Given the description of an element on the screen output the (x, y) to click on. 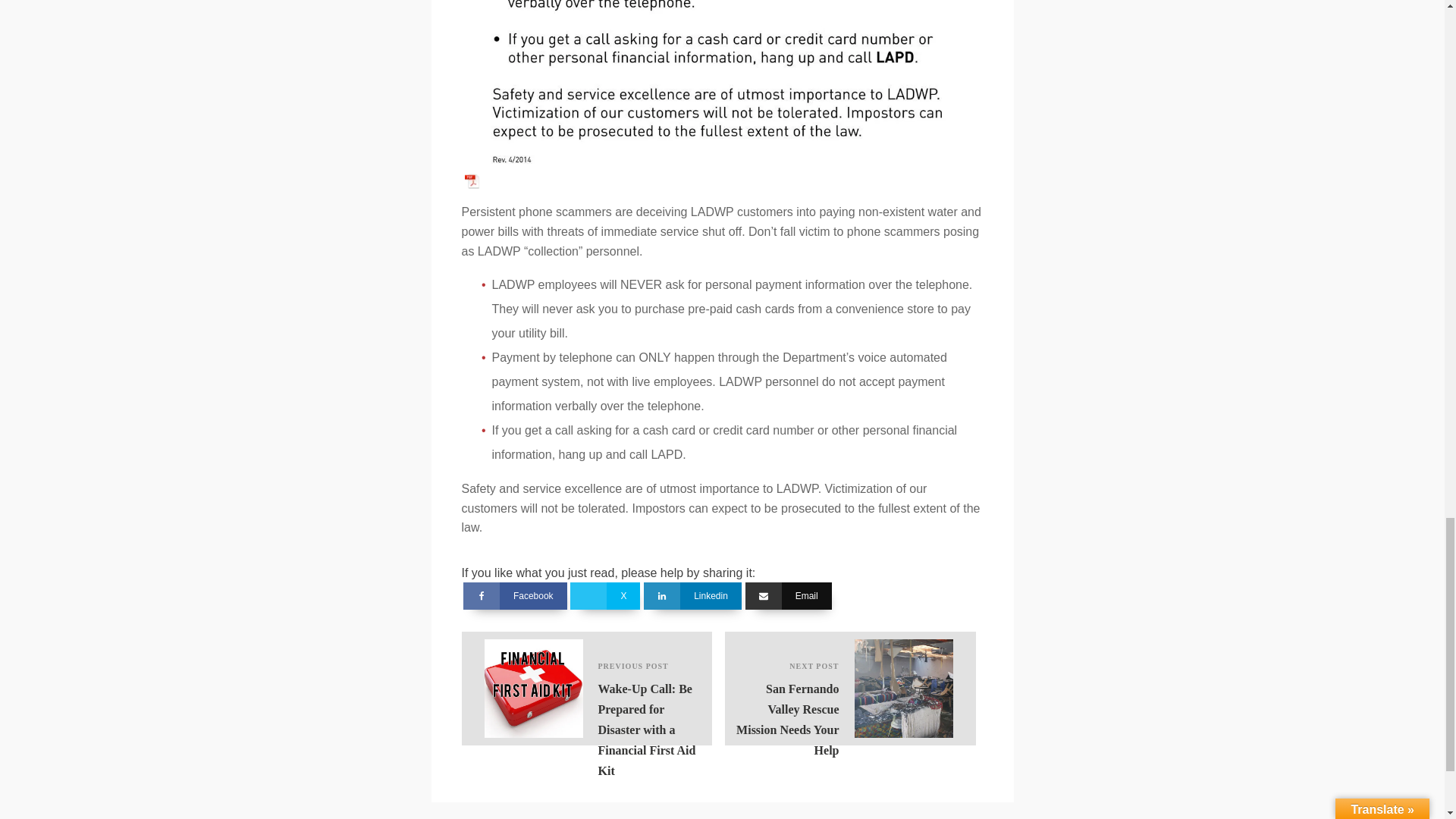
Email (850, 688)
Linkedin (788, 595)
X (692, 595)
Facebook (605, 595)
